Given the description of an element on the screen output the (x, y) to click on. 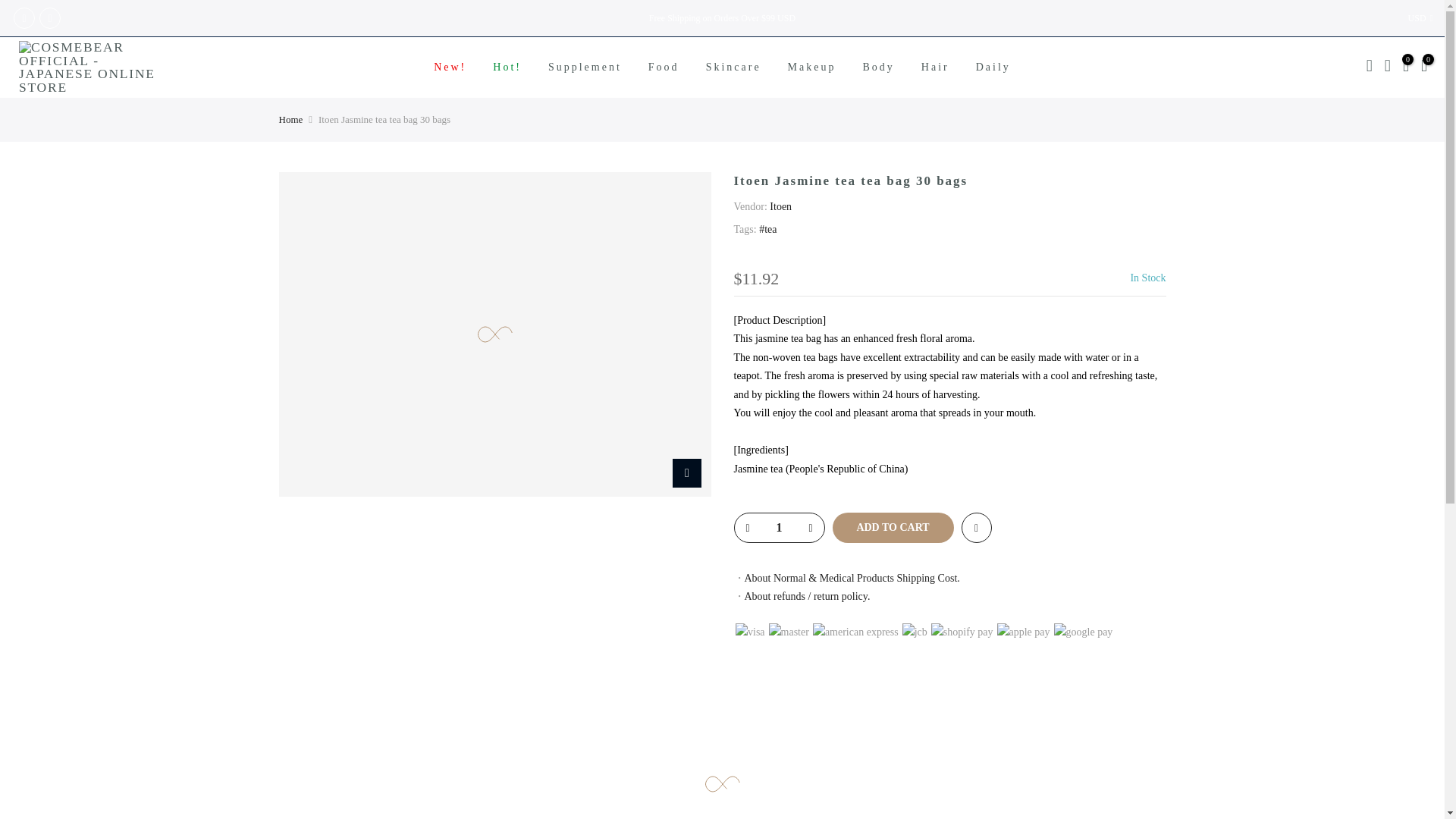
Hot! (507, 67)
Home (290, 119)
Food (663, 67)
Skincare (733, 67)
Supplement (584, 67)
0 (1405, 67)
Daily (992, 67)
Itoen (781, 206)
Hair (934, 67)
Itoen (781, 206)
